Given the description of an element on the screen output the (x, y) to click on. 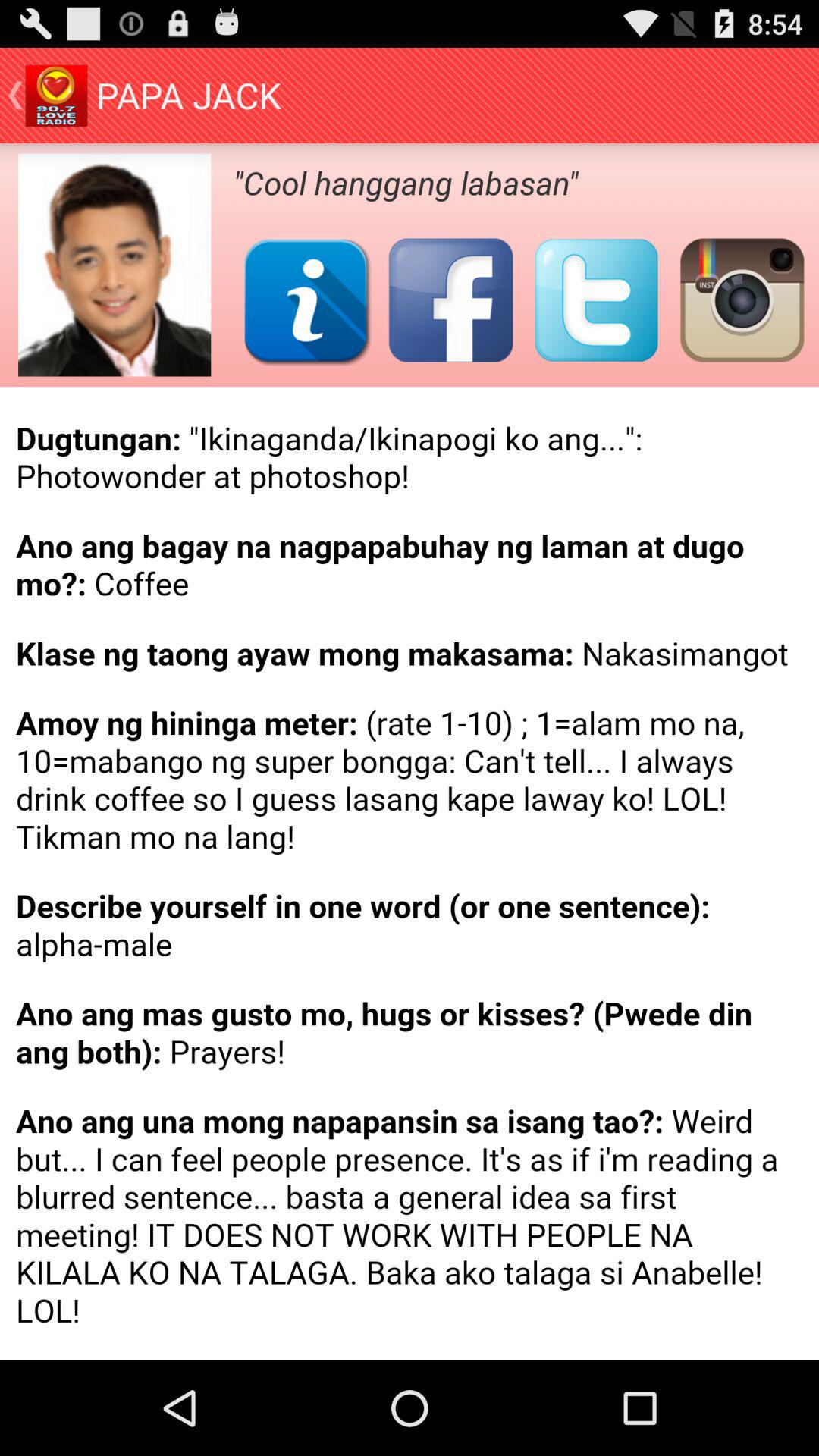
more information (305, 299)
